Given the description of an element on the screen output the (x, y) to click on. 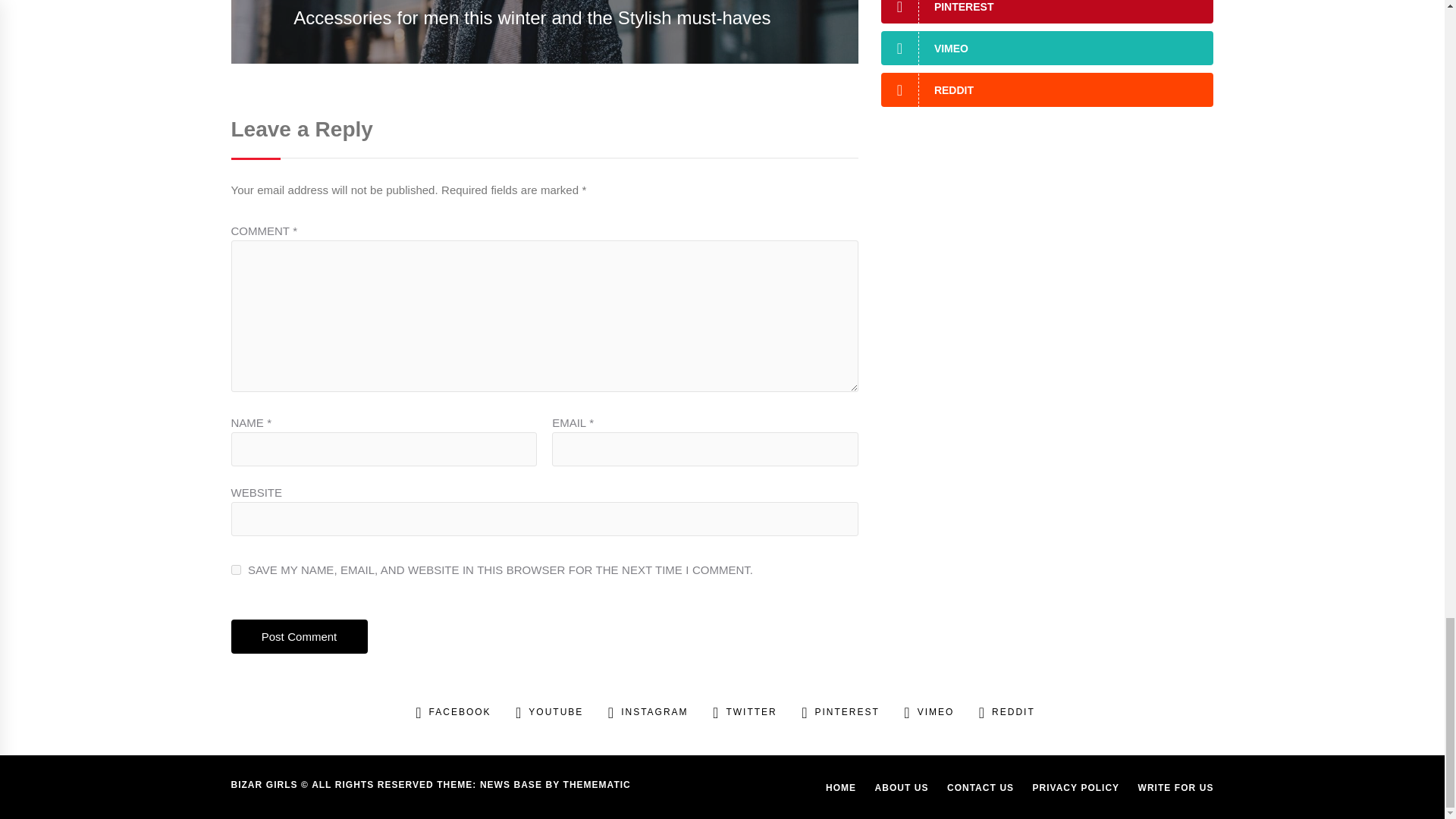
Post Comment (298, 636)
